Given the description of an element on the screen output the (x, y) to click on. 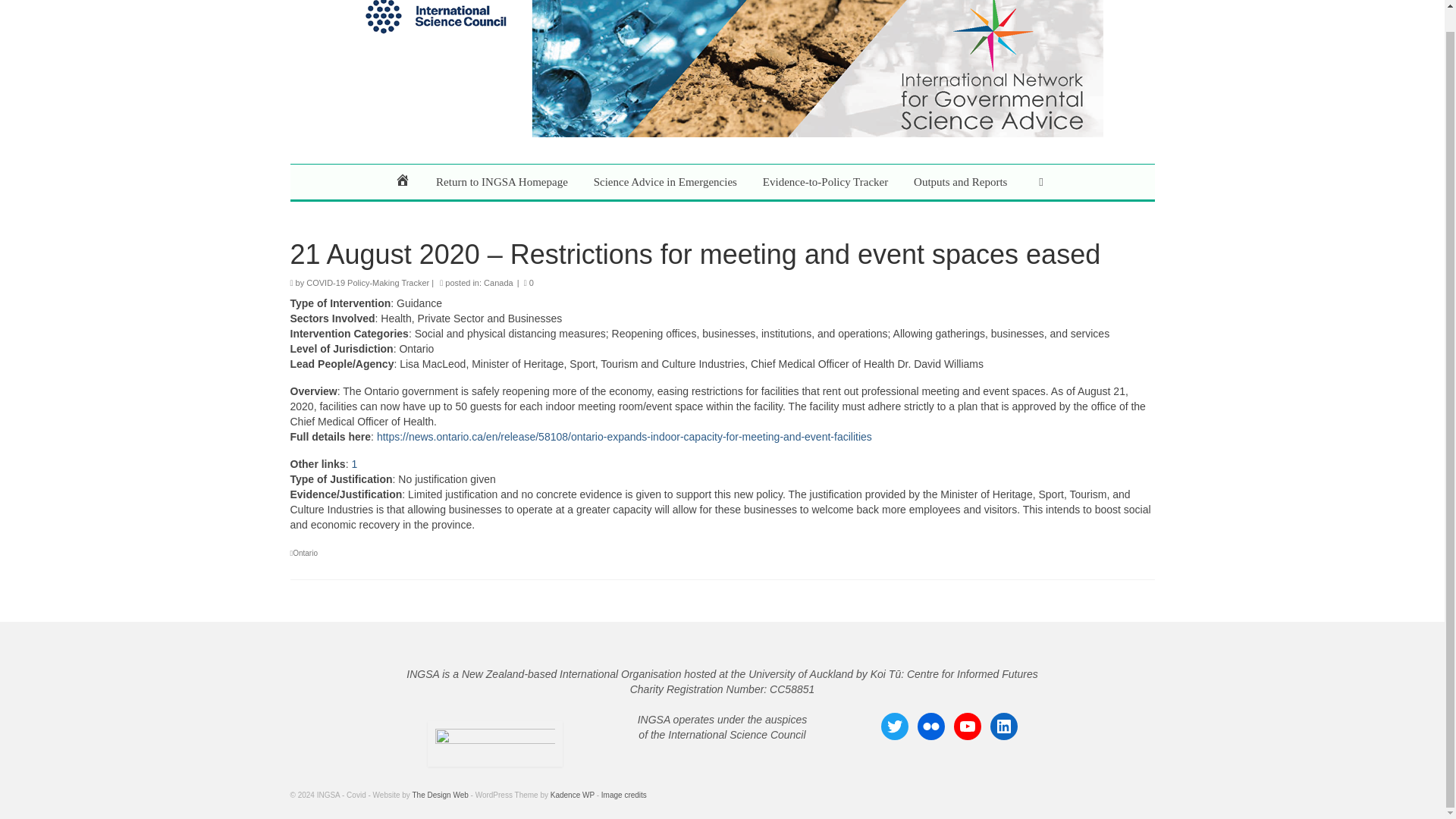
The Design Web (439, 795)
0 (529, 282)
Science Advice in Emergencies (665, 181)
Search (1040, 181)
Flickr (930, 726)
Outputs and Reports (959, 181)
LinkedIn (1003, 726)
Ontario (304, 552)
Return to INGSA Homepage (502, 181)
Evidence-to-Policy Tracker (825, 181)
